Given the description of an element on the screen output the (x, y) to click on. 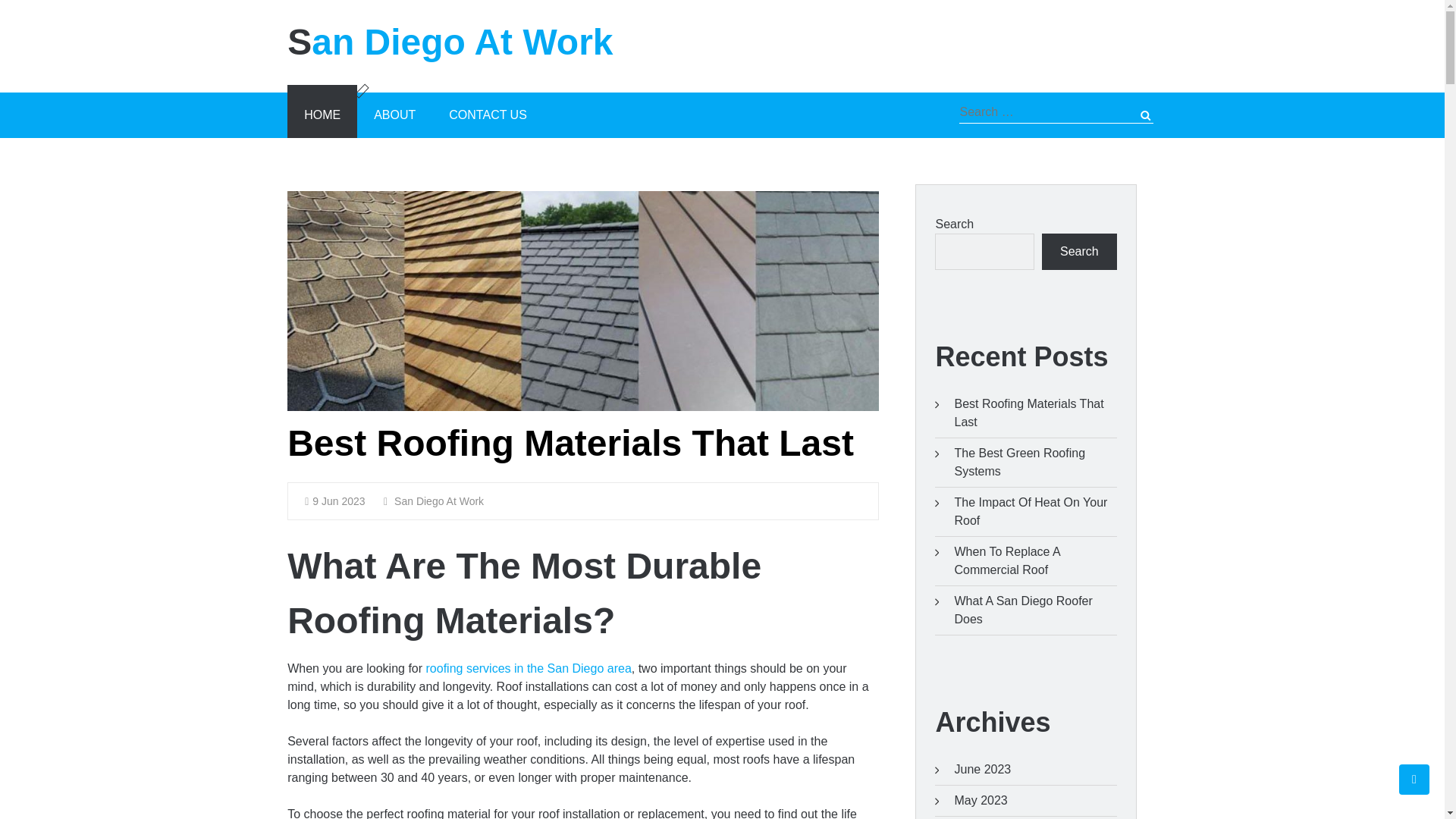
roofing services in the San Diego area (528, 667)
Search (1132, 115)
9 Jun 2023 (334, 500)
San Diego At Work (433, 500)
CONTACT US (487, 115)
Search (1132, 115)
Best Roofing Materials That Last (569, 443)
San Diego At Work (498, 42)
ABOUT (394, 115)
HOME (321, 115)
Search (1132, 115)
